Given the description of an element on the screen output the (x, y) to click on. 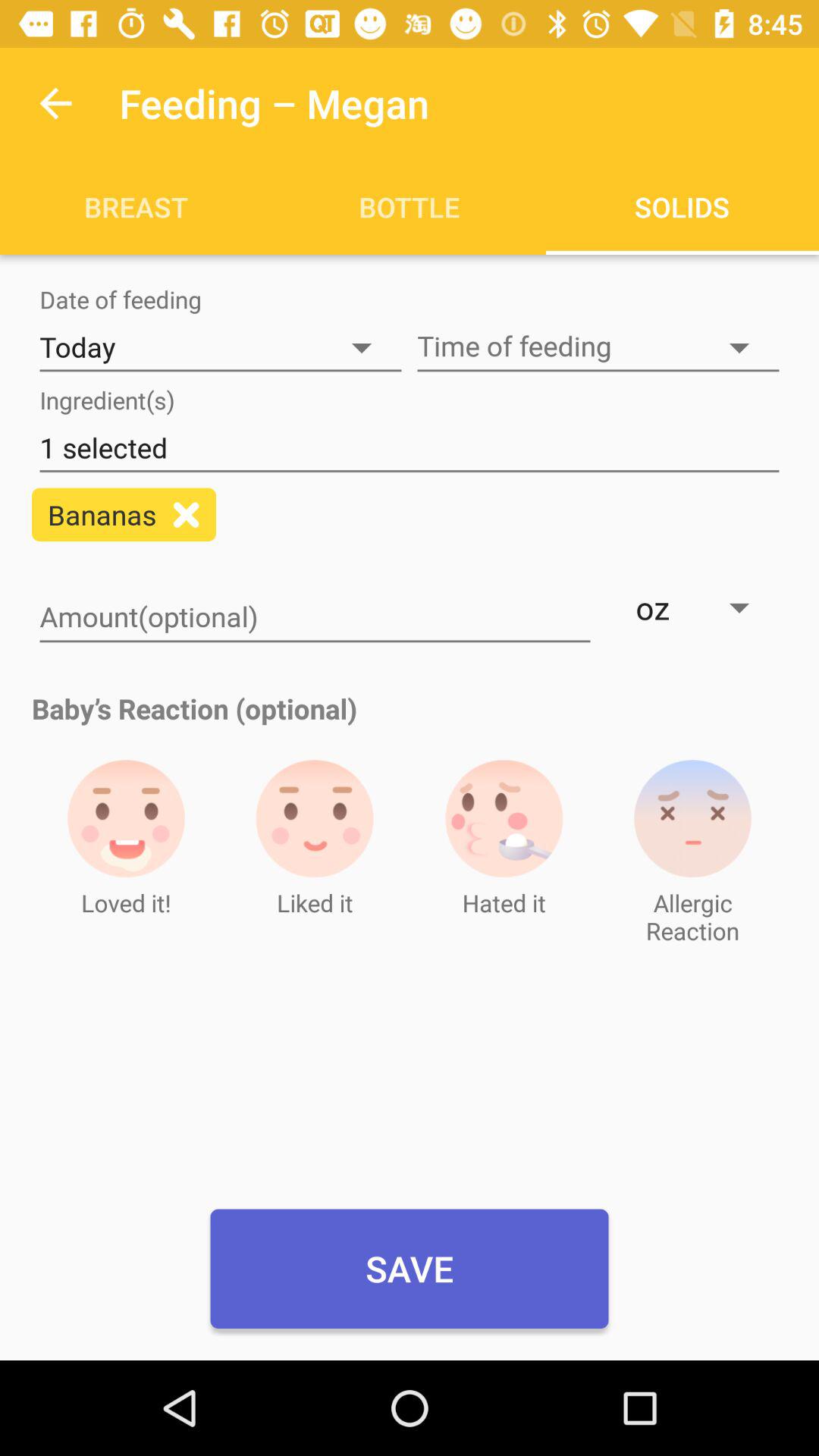
enter amount optional (314, 618)
